Given the description of an element on the screen output the (x, y) to click on. 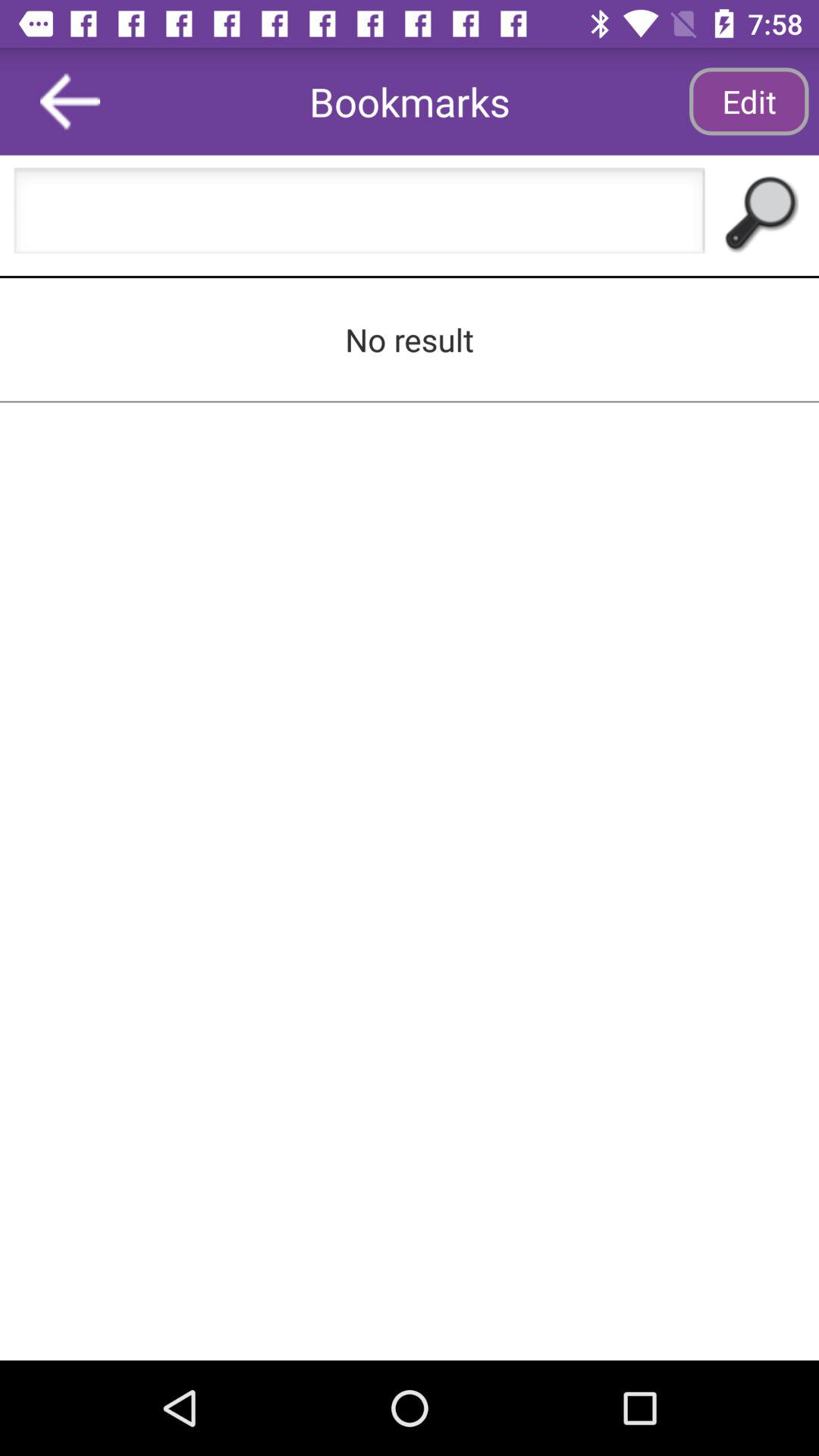
enable text input (359, 215)
